Given the description of an element on the screen output the (x, y) to click on. 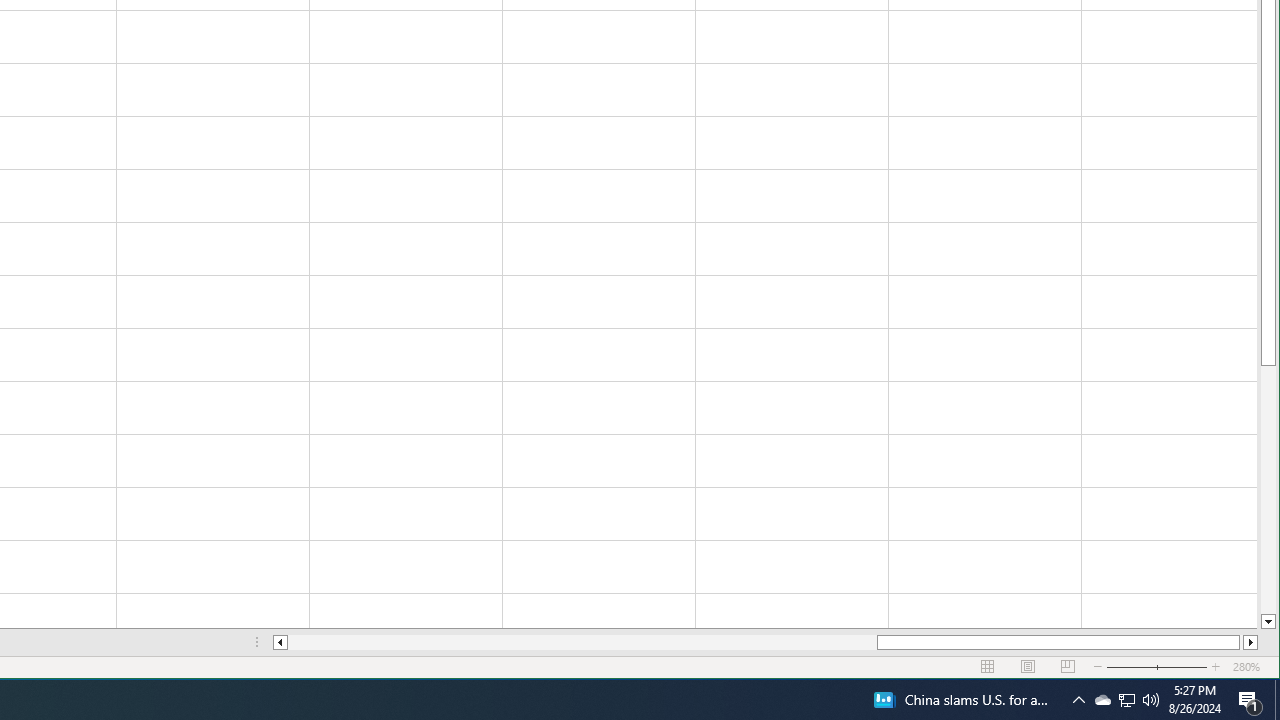
Action Center, 1 new notification (1250, 699)
